Given the description of an element on the screen output the (x, y) to click on. 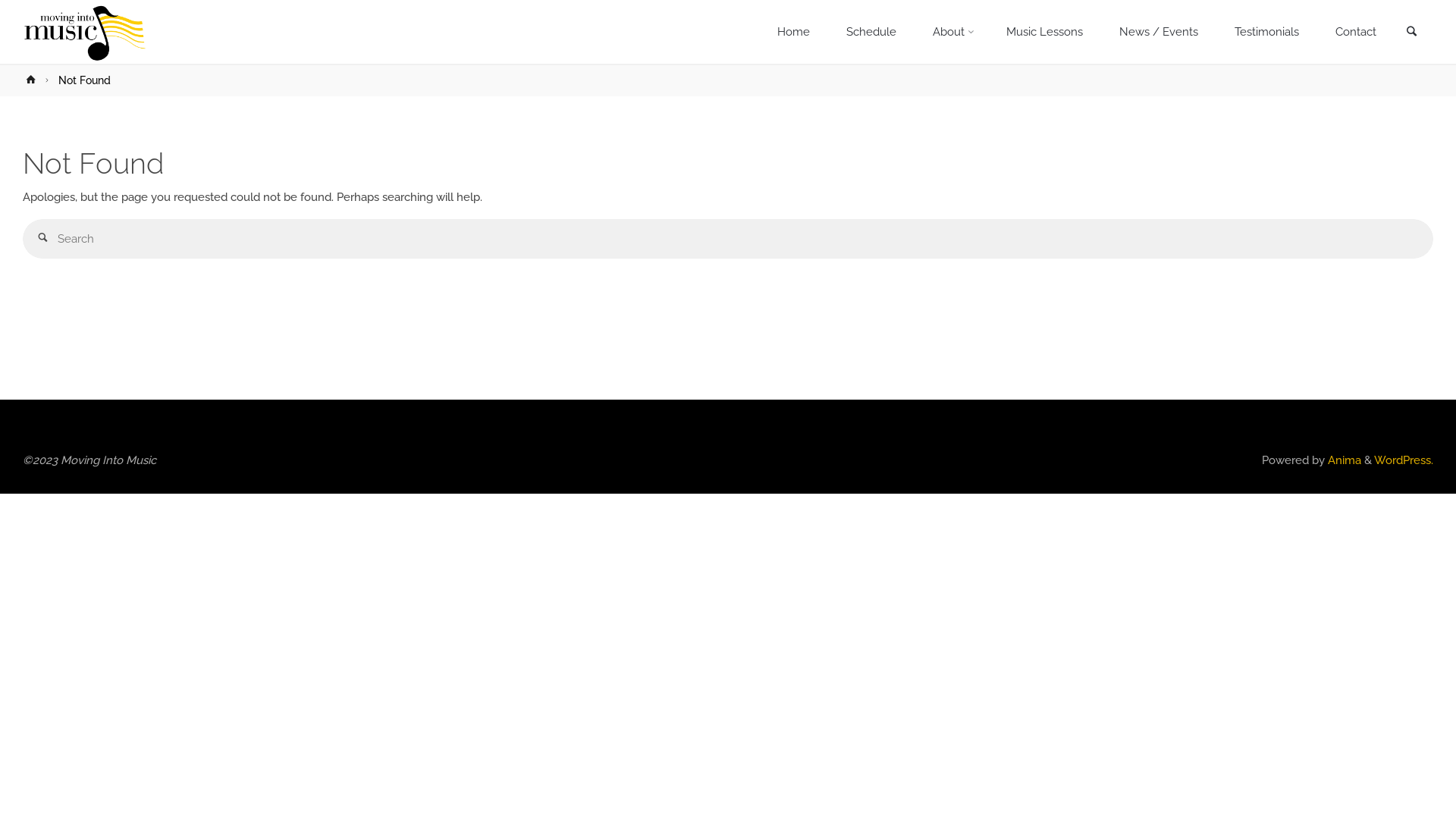
Home Element type: text (792, 32)
WordPress. Element type: text (1403, 460)
Search Element type: text (1411, 32)
Schedule Element type: text (871, 32)
About Element type: text (951, 32)
Moving Into Music Element type: hover (84, 31)
News / Events Element type: text (1158, 32)
Home Element type: text (32, 80)
Contact Element type: text (1355, 32)
Testimonials Element type: text (1266, 32)
Search Element type: text (42, 239)
Music Lessons Element type: text (1044, 32)
Anima Element type: text (1342, 460)
